Given the description of an element on the screen output the (x, y) to click on. 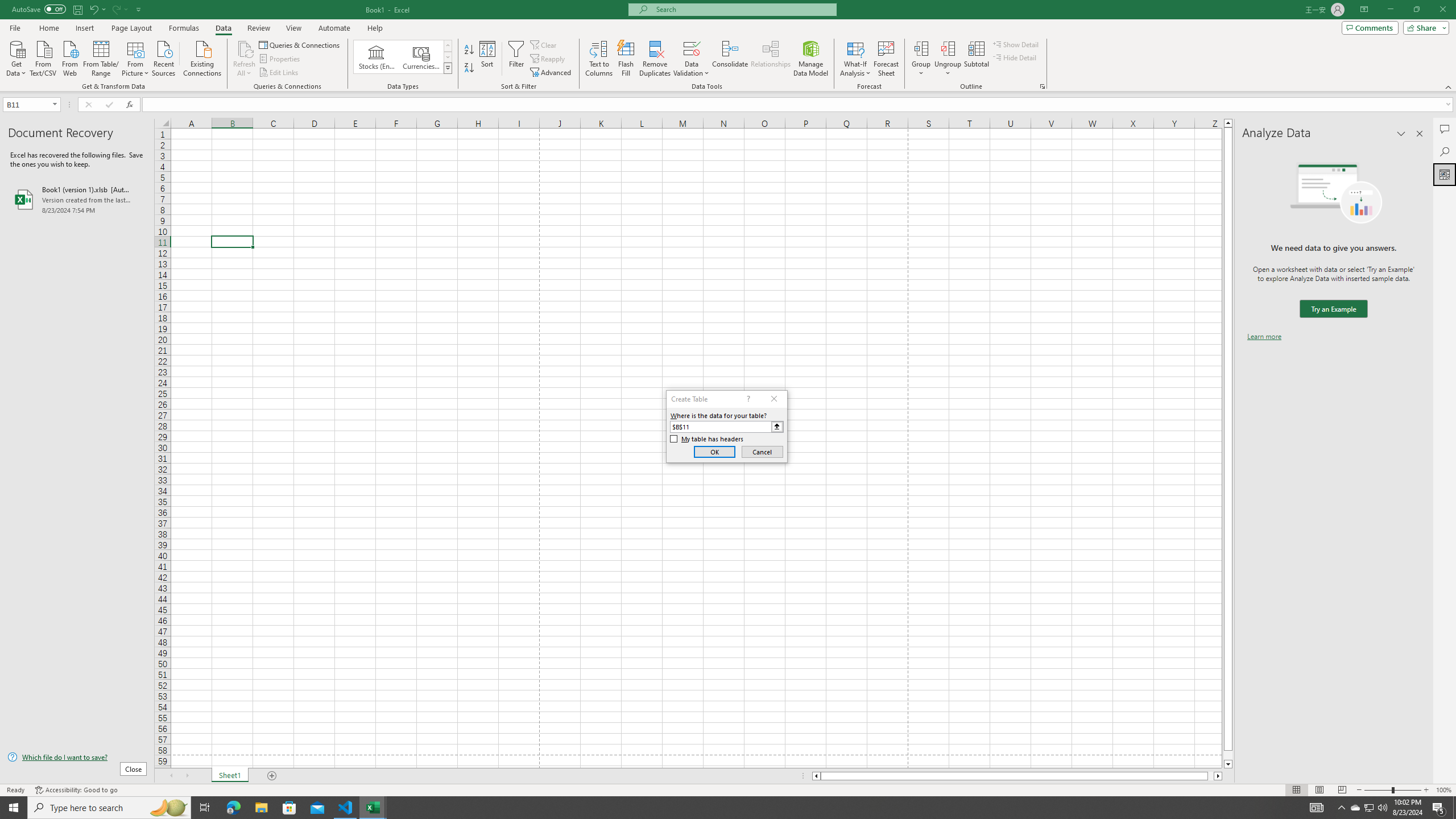
Class: MsoCommandBar (728, 45)
From Text/CSV (43, 57)
